Given the description of an element on the screen output the (x, y) to click on. 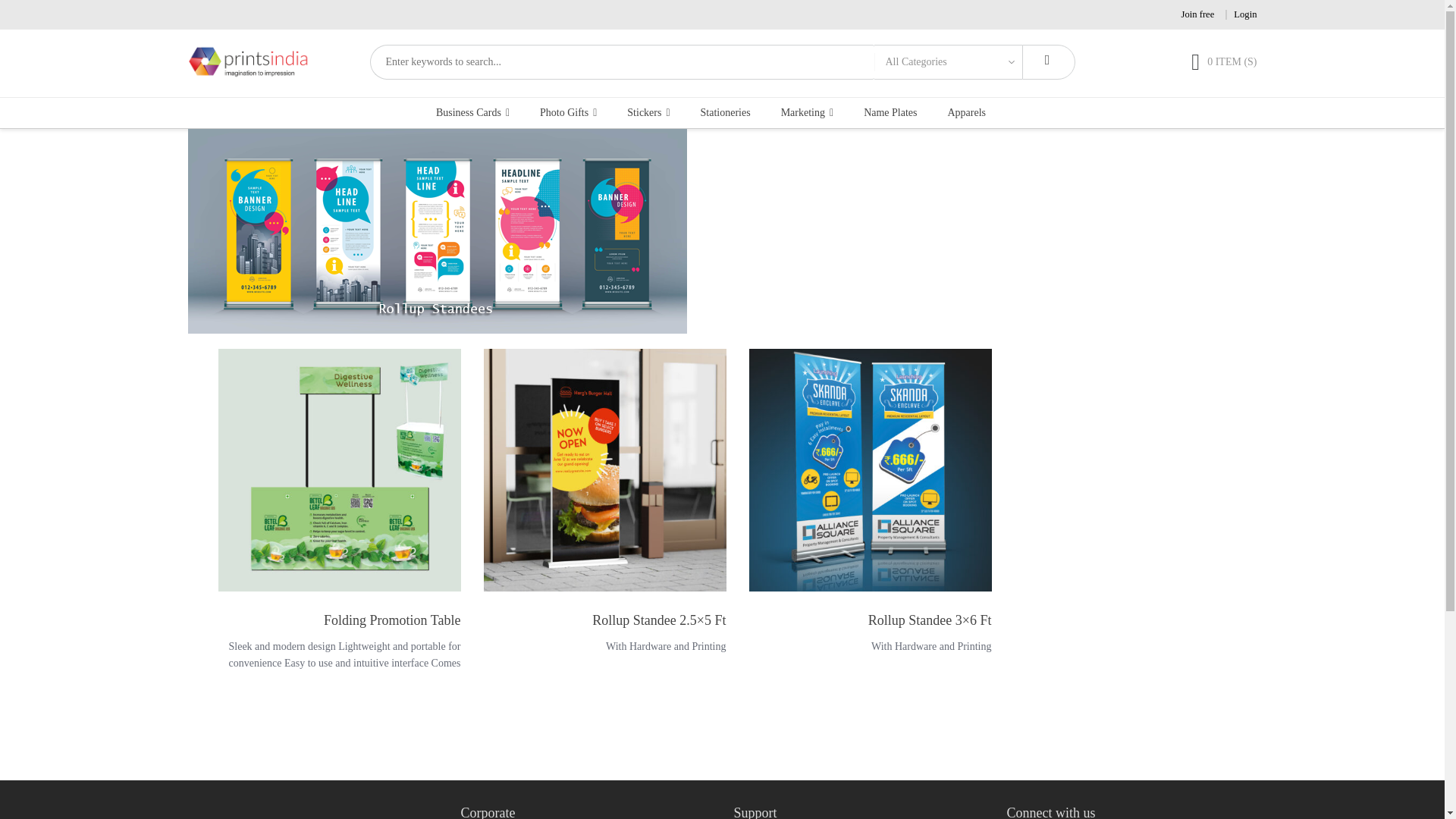
Login (1244, 14)
Business Cards (475, 112)
Join free (1197, 14)
Search (1048, 62)
Photo Gifts (568, 112)
Stickers (648, 112)
